Given the description of an element on the screen output the (x, y) to click on. 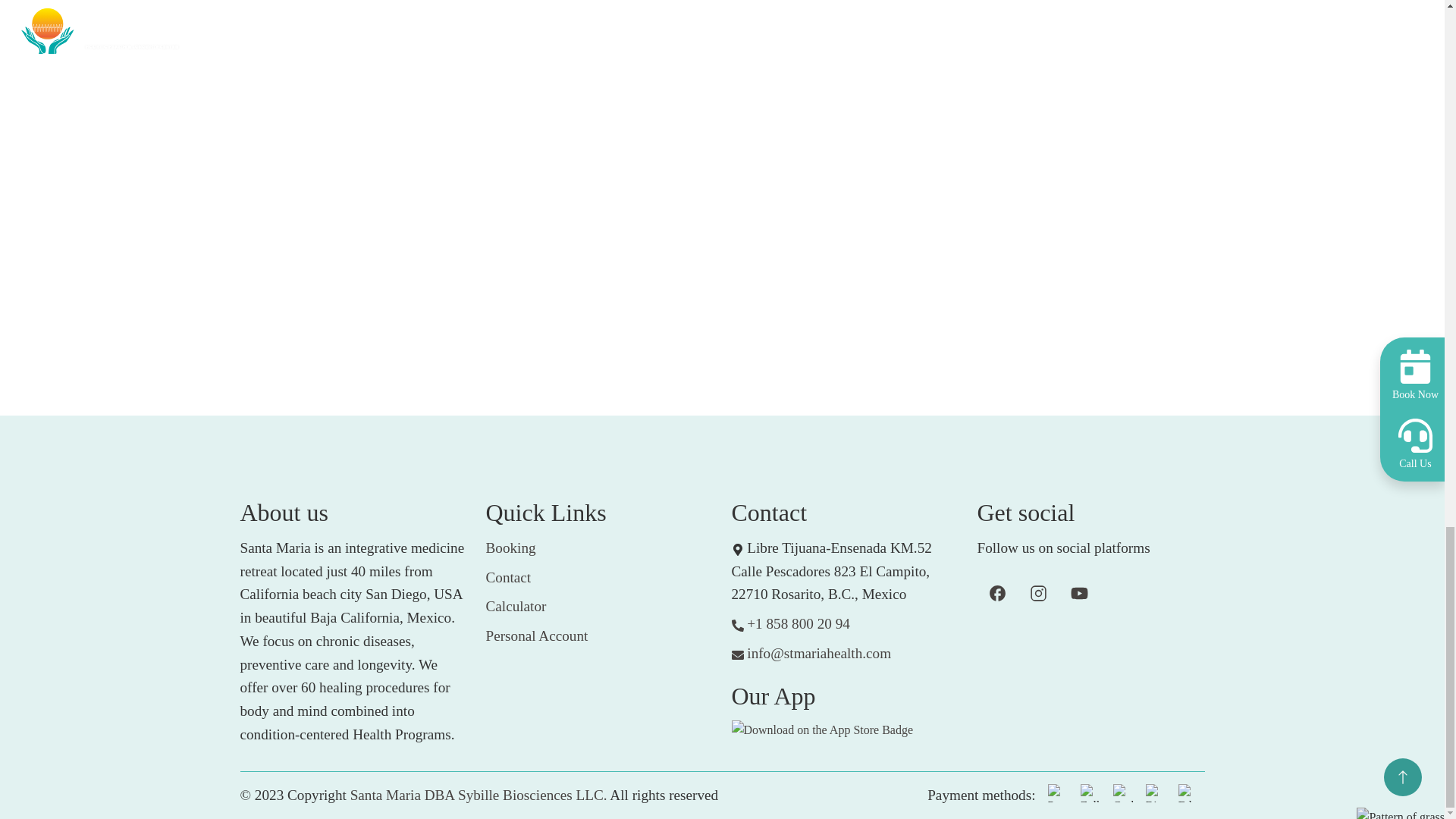
Santa Maria DBA Sybille Biosciences LLC. (478, 795)
Personal Account (536, 637)
Contact (507, 578)
Booking (509, 548)
Calculator (515, 607)
